Given the description of an element on the screen output the (x, y) to click on. 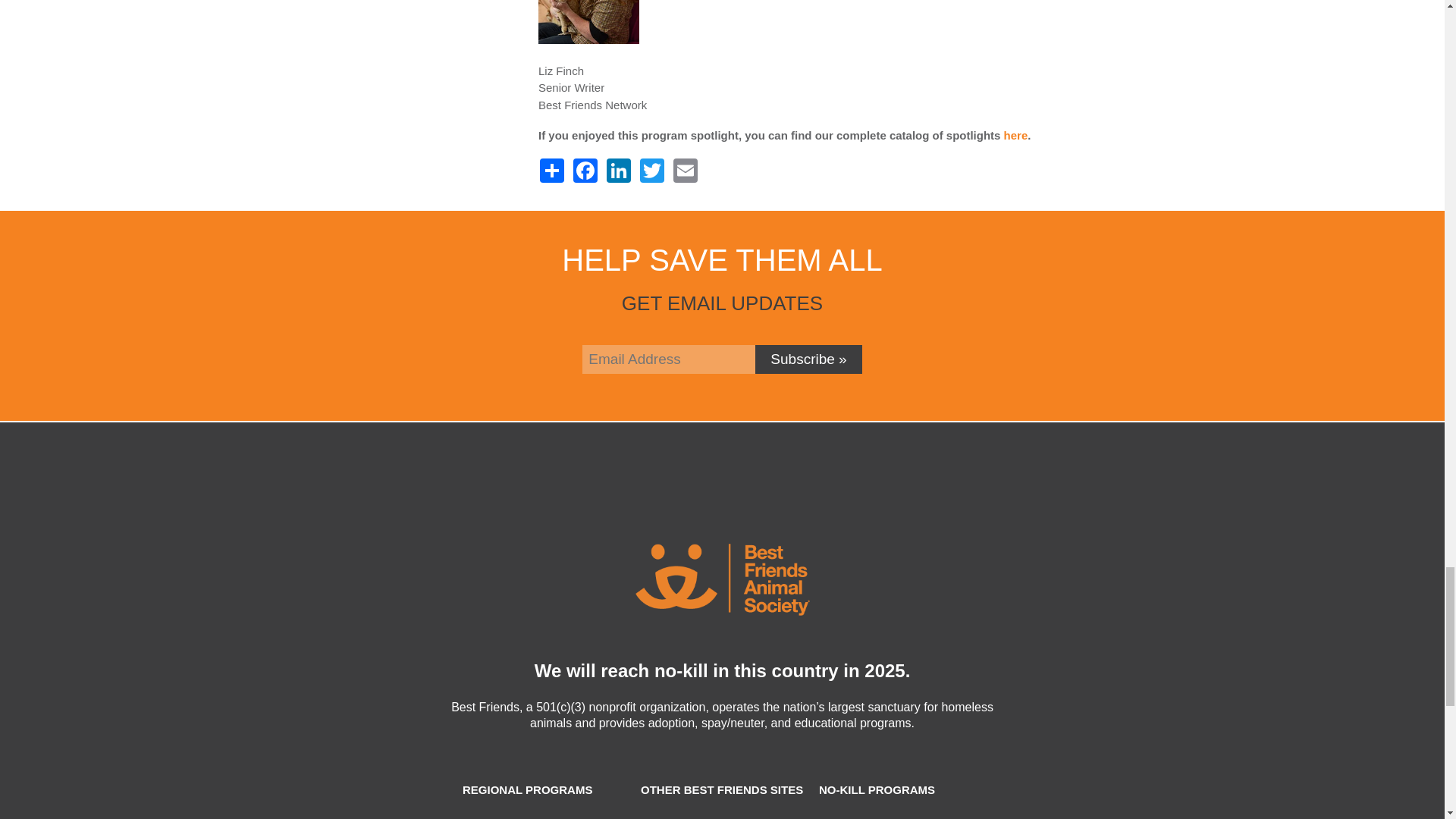
Best Friends Animal Society (721, 579)
